Given the description of an element on the screen output the (x, y) to click on. 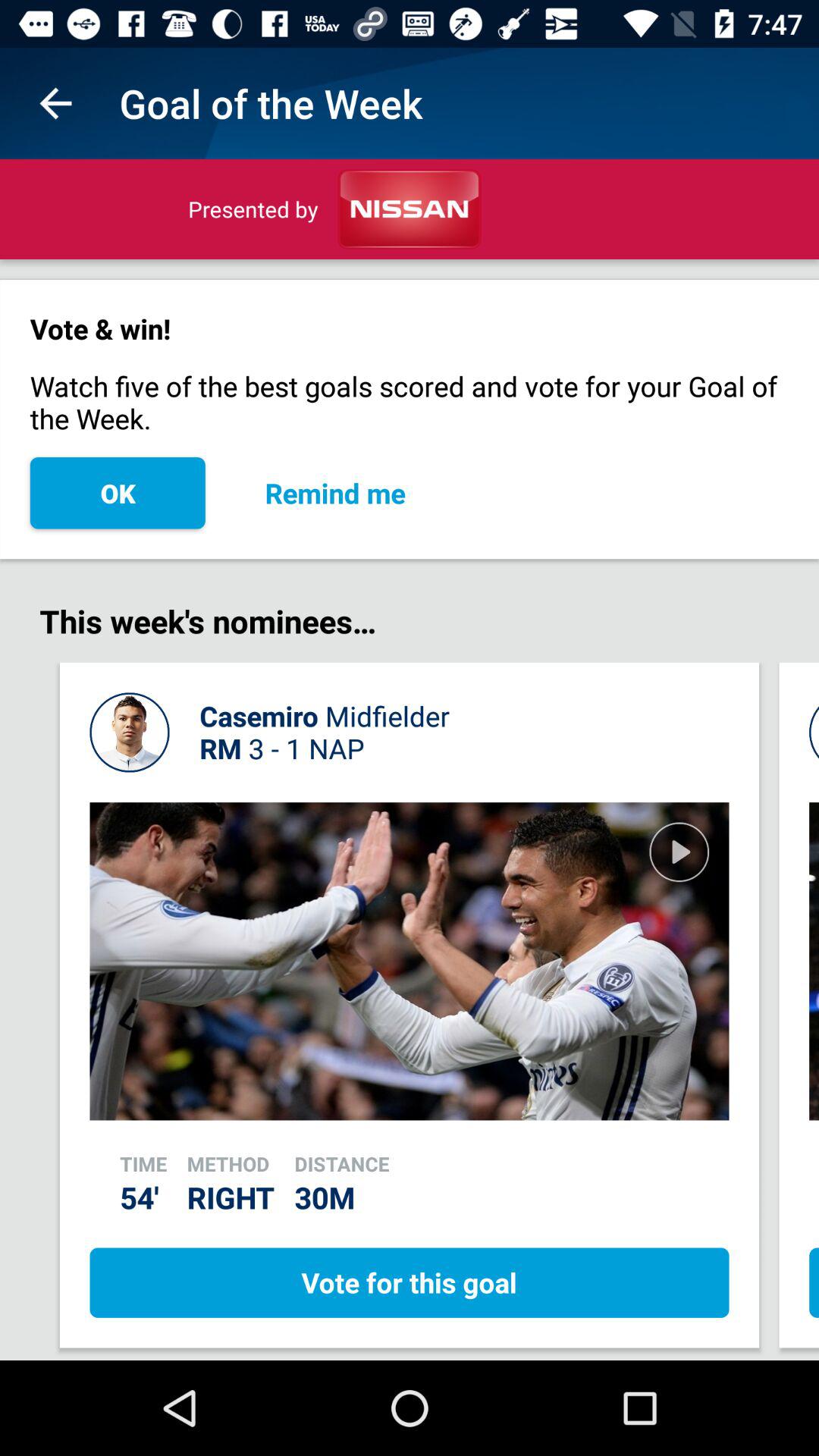
click the icon above vote & win! (55, 103)
